Given the description of an element on the screen output the (x, y) to click on. 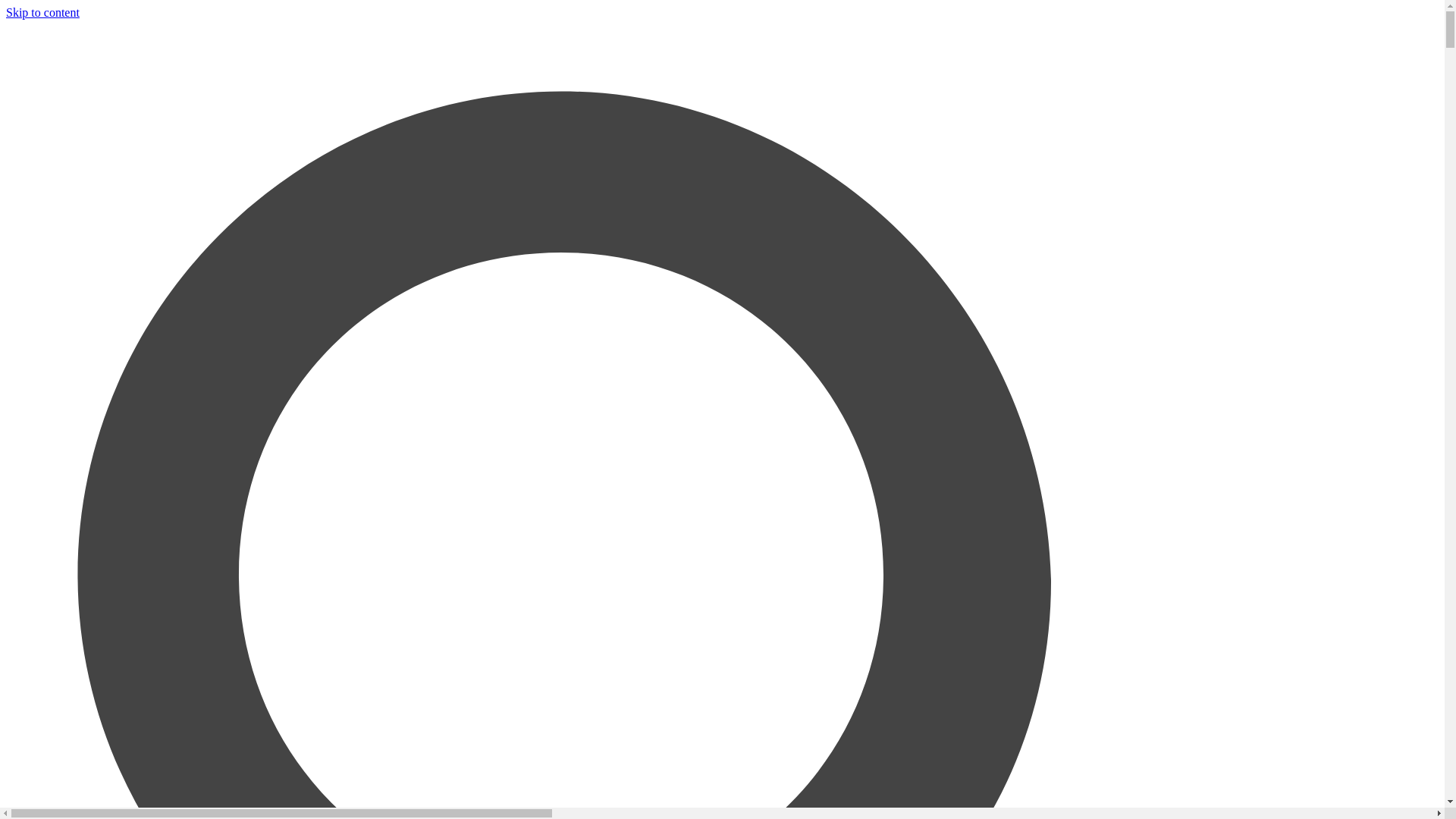
Skip to content Element type: text (42, 12)
